Given the description of an element on the screen output the (x, y) to click on. 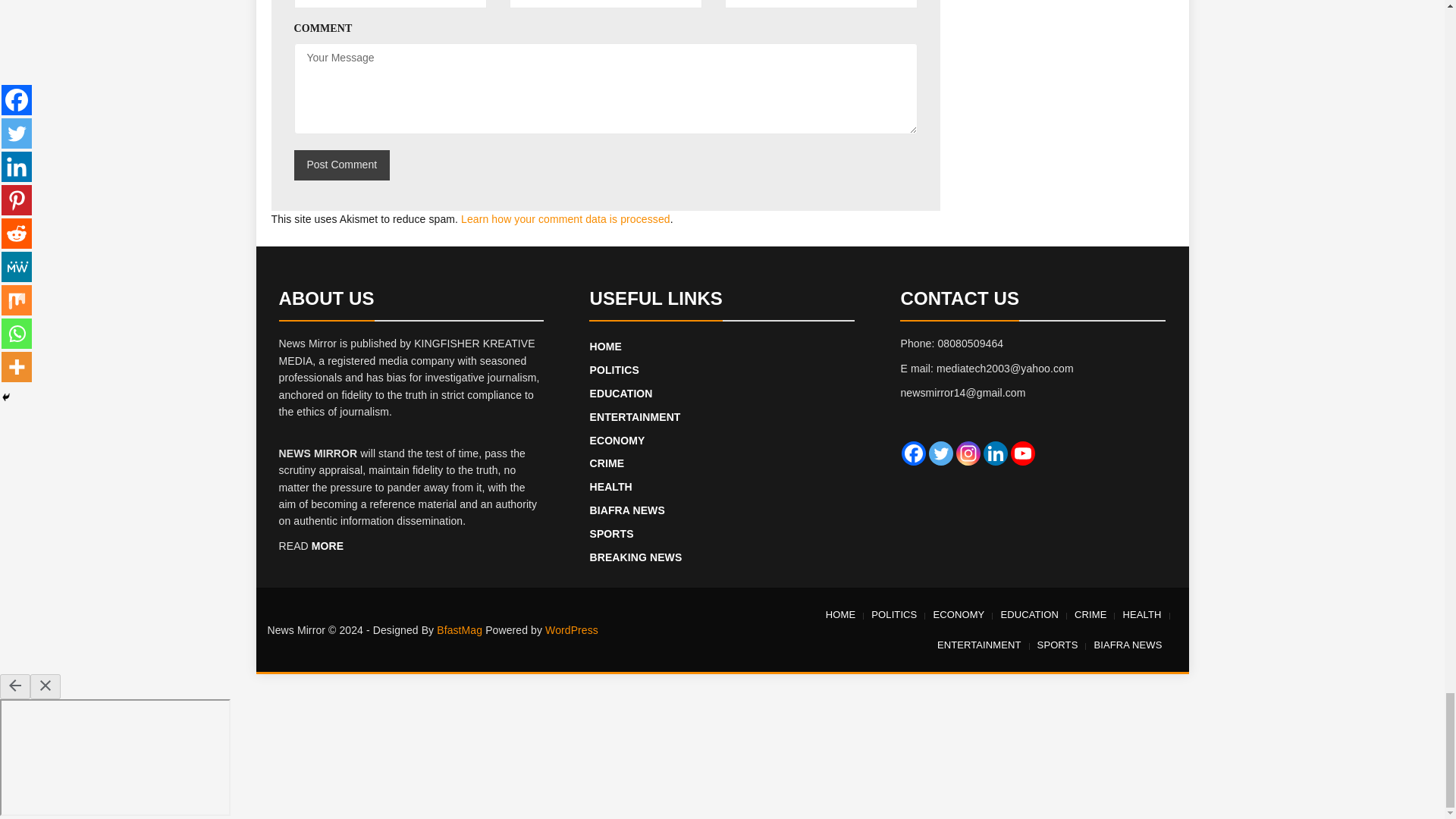
Post Comment (342, 164)
